Given the description of an element on the screen output the (x, y) to click on. 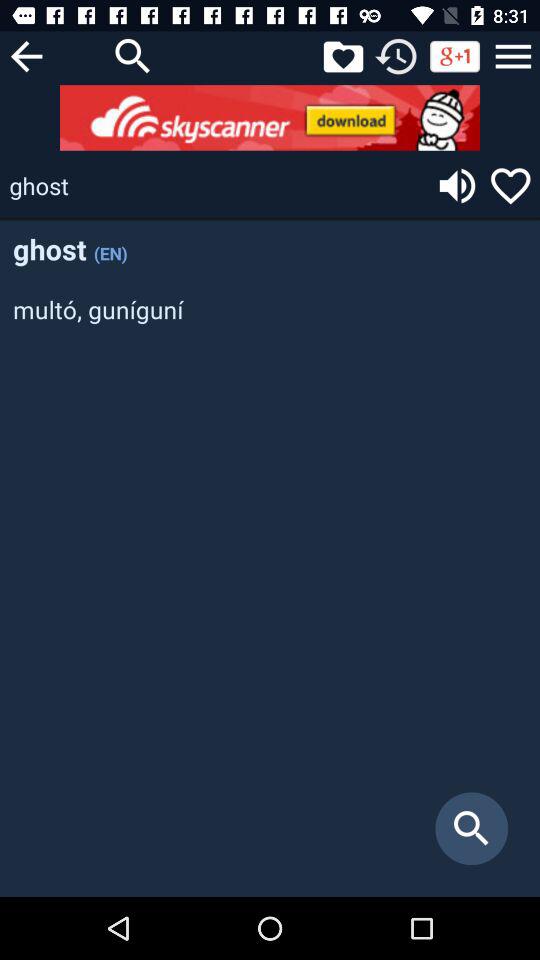
spell loudly (457, 185)
